Given the description of an element on the screen output the (x, y) to click on. 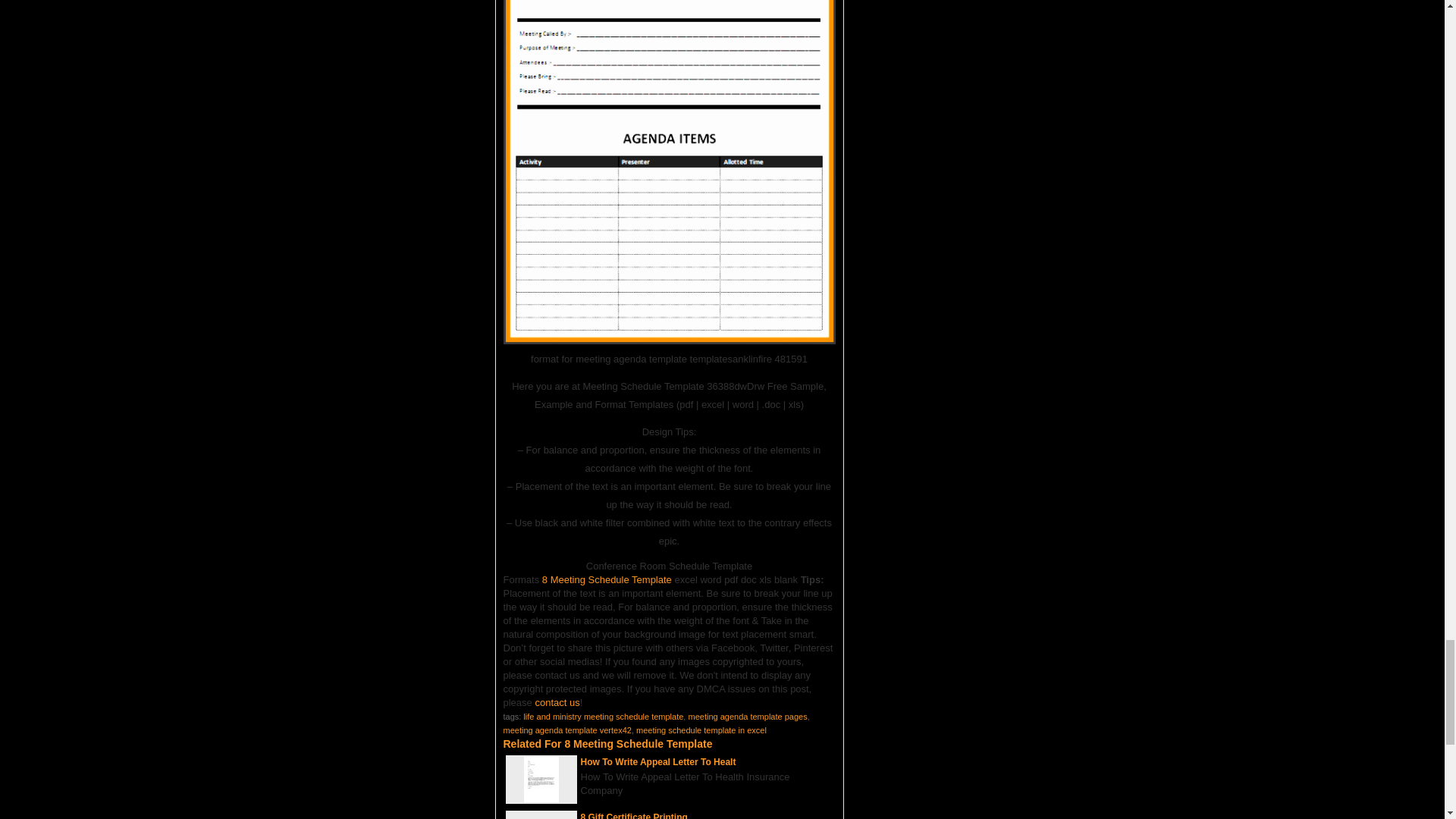
8 Meeting Schedule Template (606, 579)
meeting schedule template in excel (701, 729)
8 Gift Certificate Printing (633, 815)
meeting agenda template vertex42 (567, 729)
meeting agenda template pages (746, 716)
life and ministry meeting schedule template (602, 716)
How To Write Appeal Letter To Healt (658, 761)
contact us (556, 702)
